Given the description of an element on the screen output the (x, y) to click on. 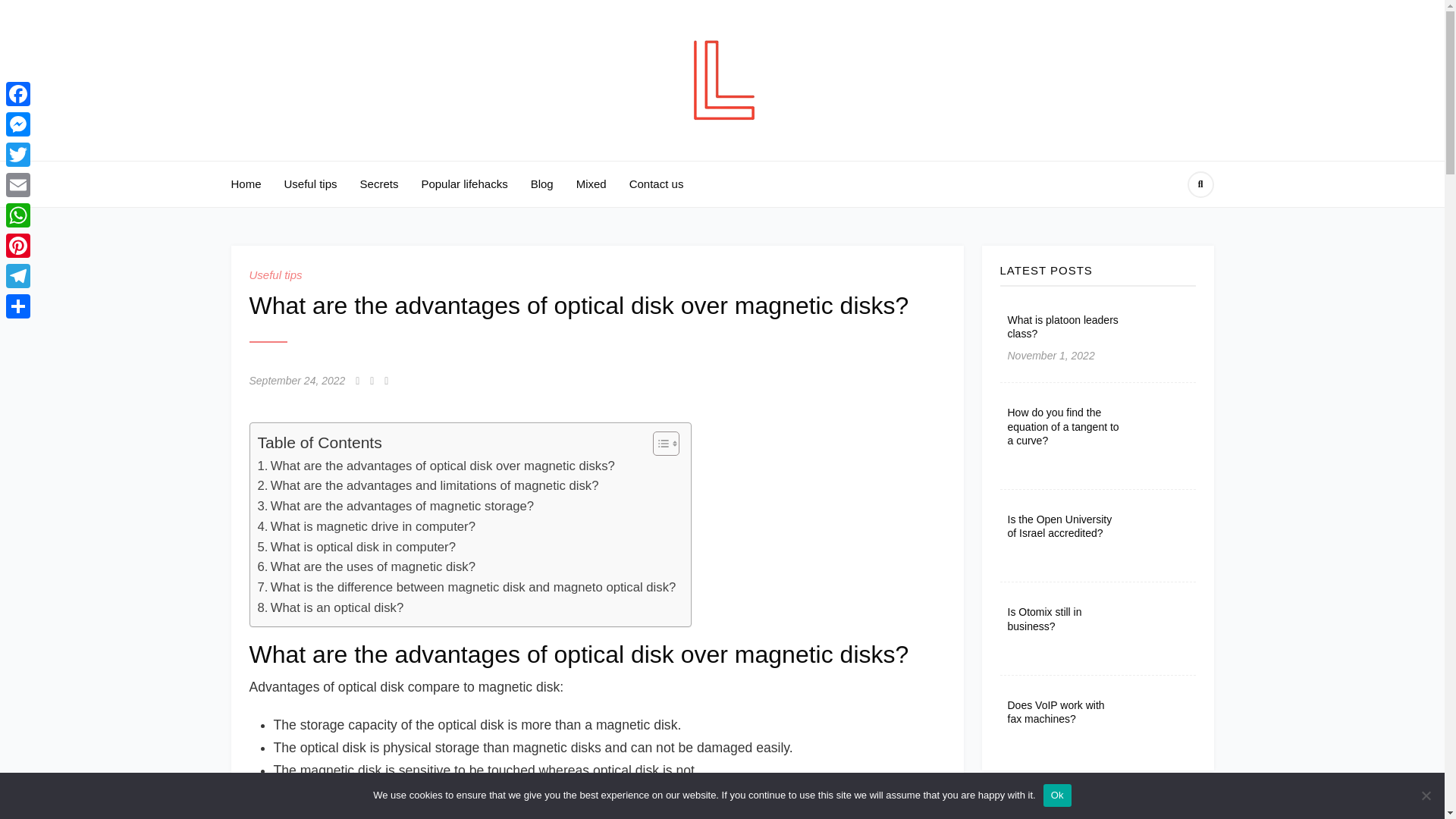
What are the advantages and limitations of magnetic disk? (427, 485)
Useful tips (274, 274)
WhatsApp (17, 214)
What are the uses of magnetic disk? (366, 567)
What is optical disk in computer? (356, 547)
What is an optical disk? (330, 608)
Useful tips (310, 184)
What are the advantages of optical disk over magnetic disks? (435, 466)
Twitter (17, 154)
